Given the description of an element on the screen output the (x, y) to click on. 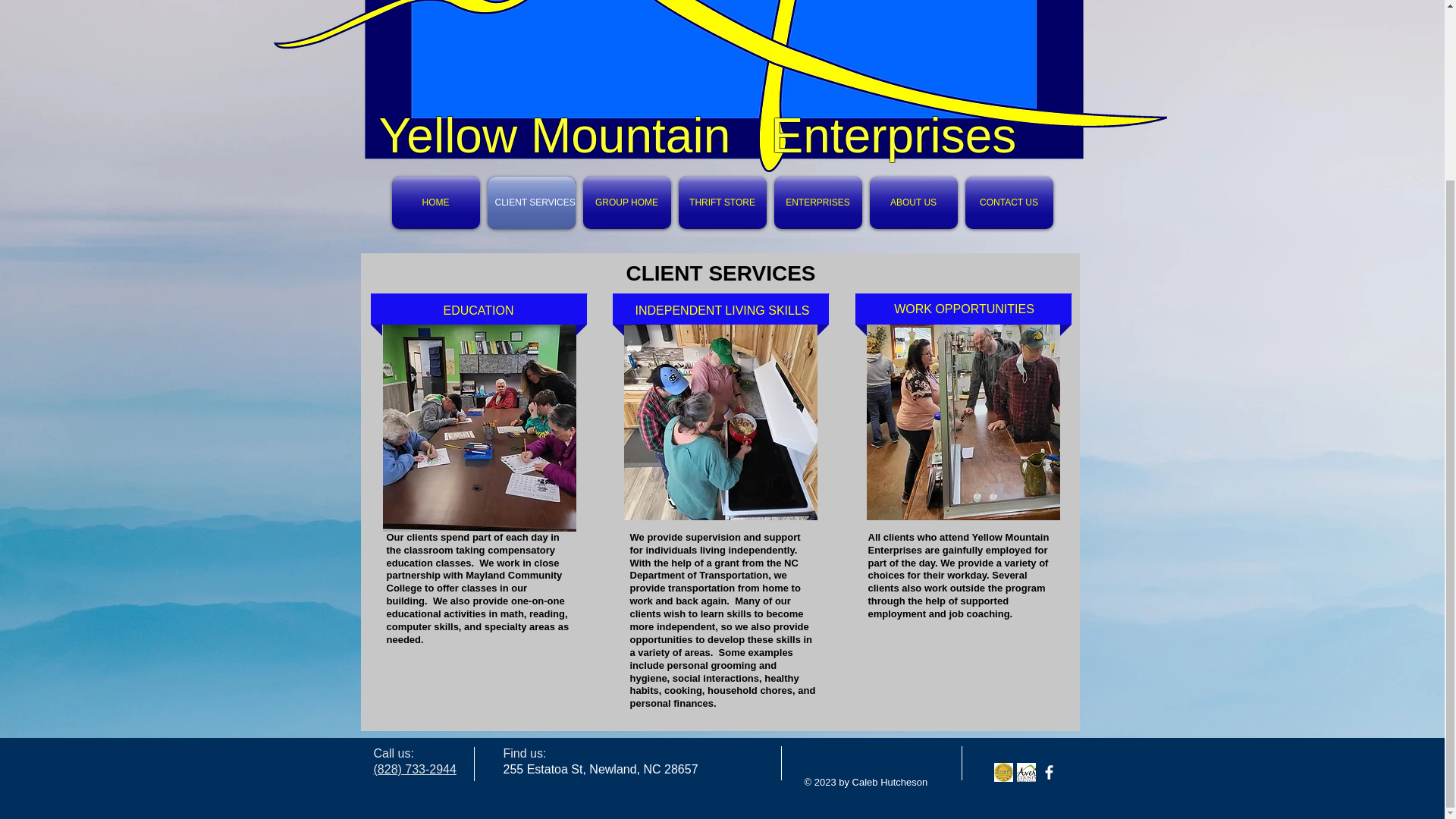
CONTACT US (1008, 202)
ABOUT US (913, 202)
GROUP HOME (627, 202)
CLIENT SERVICES (531, 202)
ENTERPRISES (818, 202)
HOME (435, 202)
THRIFT STORE (722, 202)
